Given the description of an element on the screen output the (x, y) to click on. 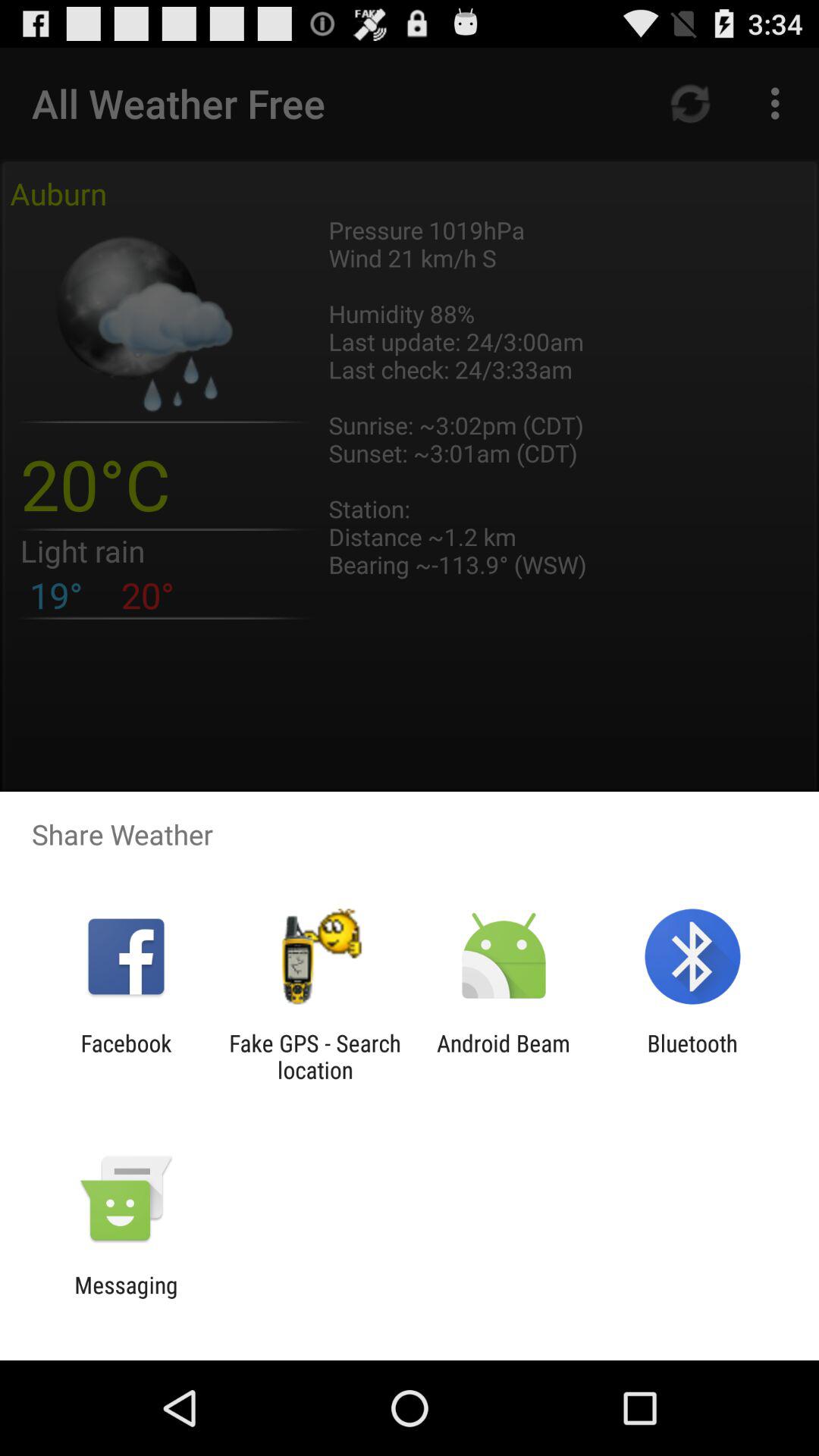
swipe until the fake gps search app (314, 1056)
